Given the description of an element on the screen output the (x, y) to click on. 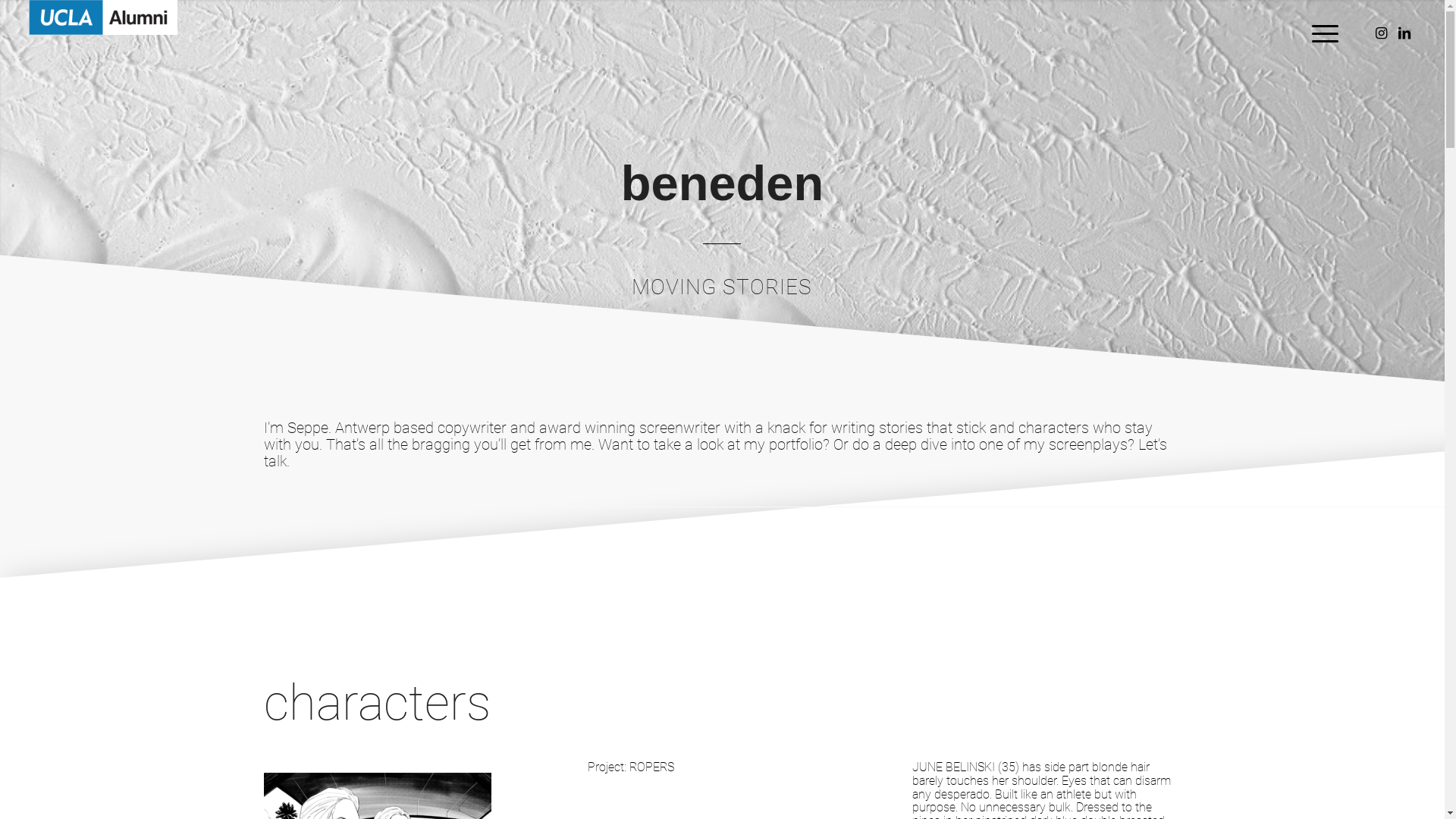
LinkedIn Element type: hover (1404, 32)
Instagram Element type: hover (1381, 32)
